Given the description of an element on the screen output the (x, y) to click on. 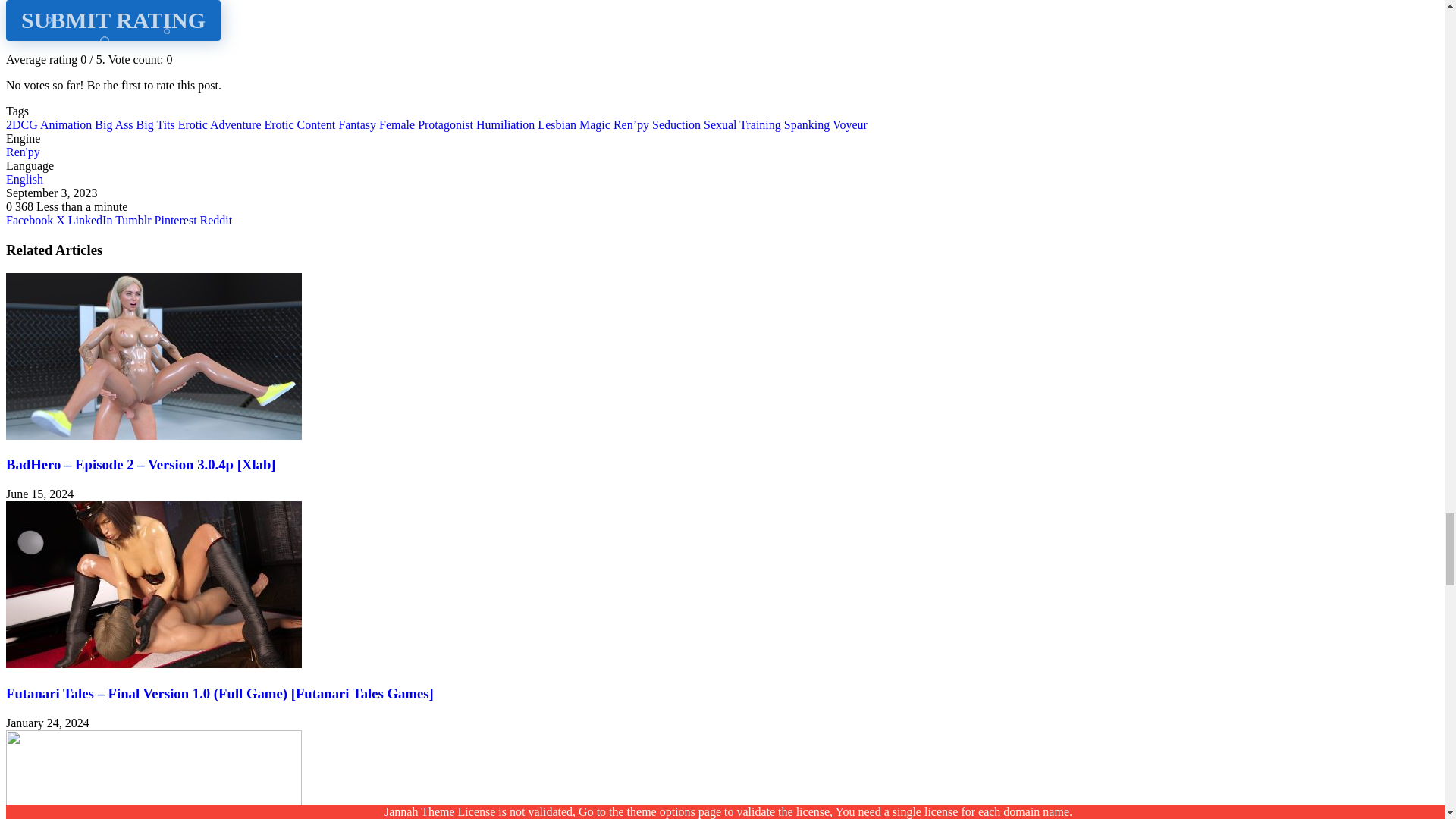
Tumblr (134, 219)
Facebook (30, 219)
Reddit (216, 219)
X (62, 219)
Pinterest (177, 219)
LinkedIn (91, 219)
